Given the description of an element on the screen output the (x, y) to click on. 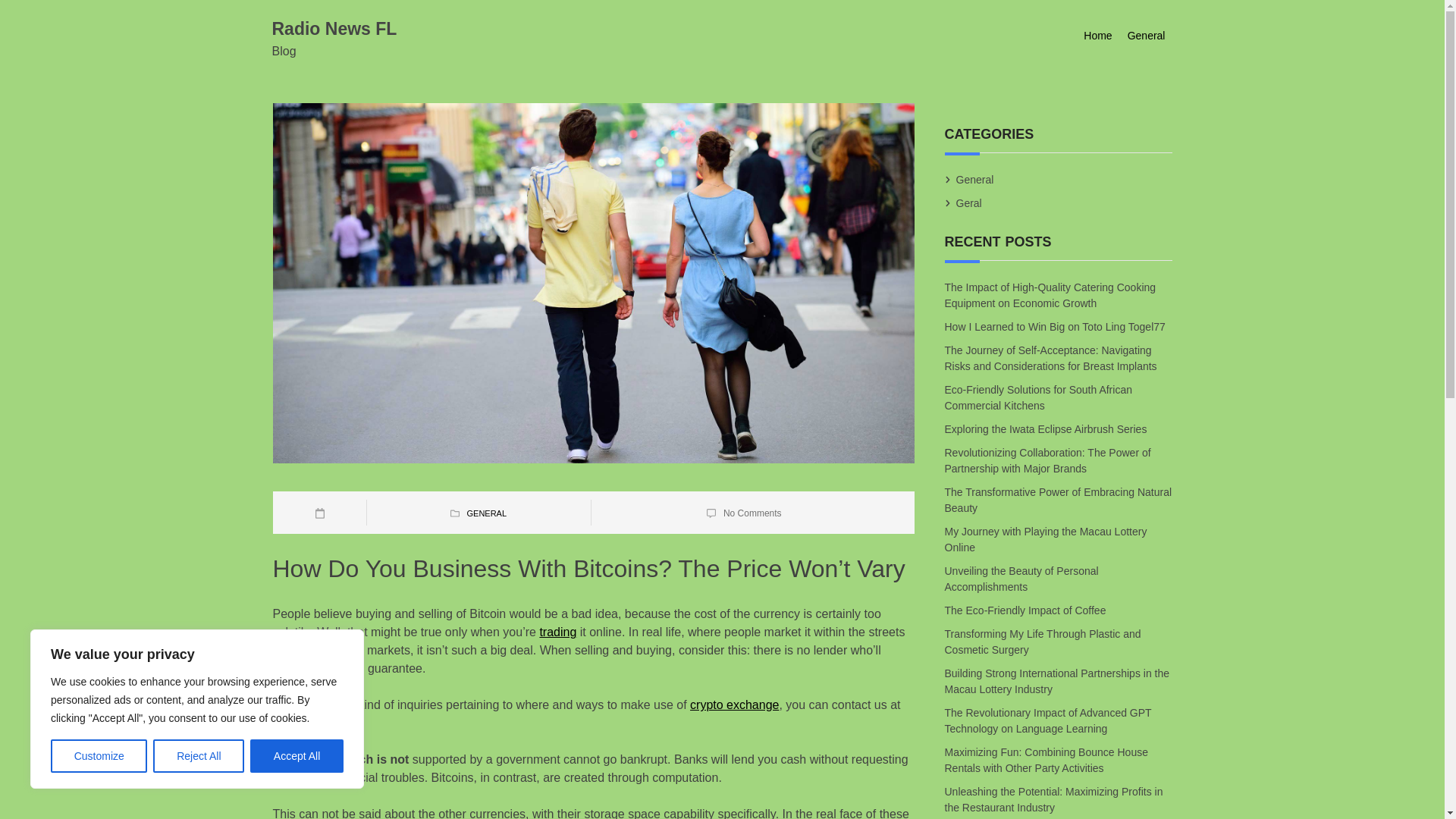
Customize (98, 756)
General (1146, 35)
General (974, 179)
Radio News FL (333, 28)
Geral (968, 203)
How I Learned to Win Big on Toto Ling Togel77 (1055, 326)
Reject All (198, 756)
No Comments (752, 512)
trading (557, 631)
Exploring the Iwata Eclipse Airbrush Series (1046, 429)
